Given the description of an element on the screen output the (x, y) to click on. 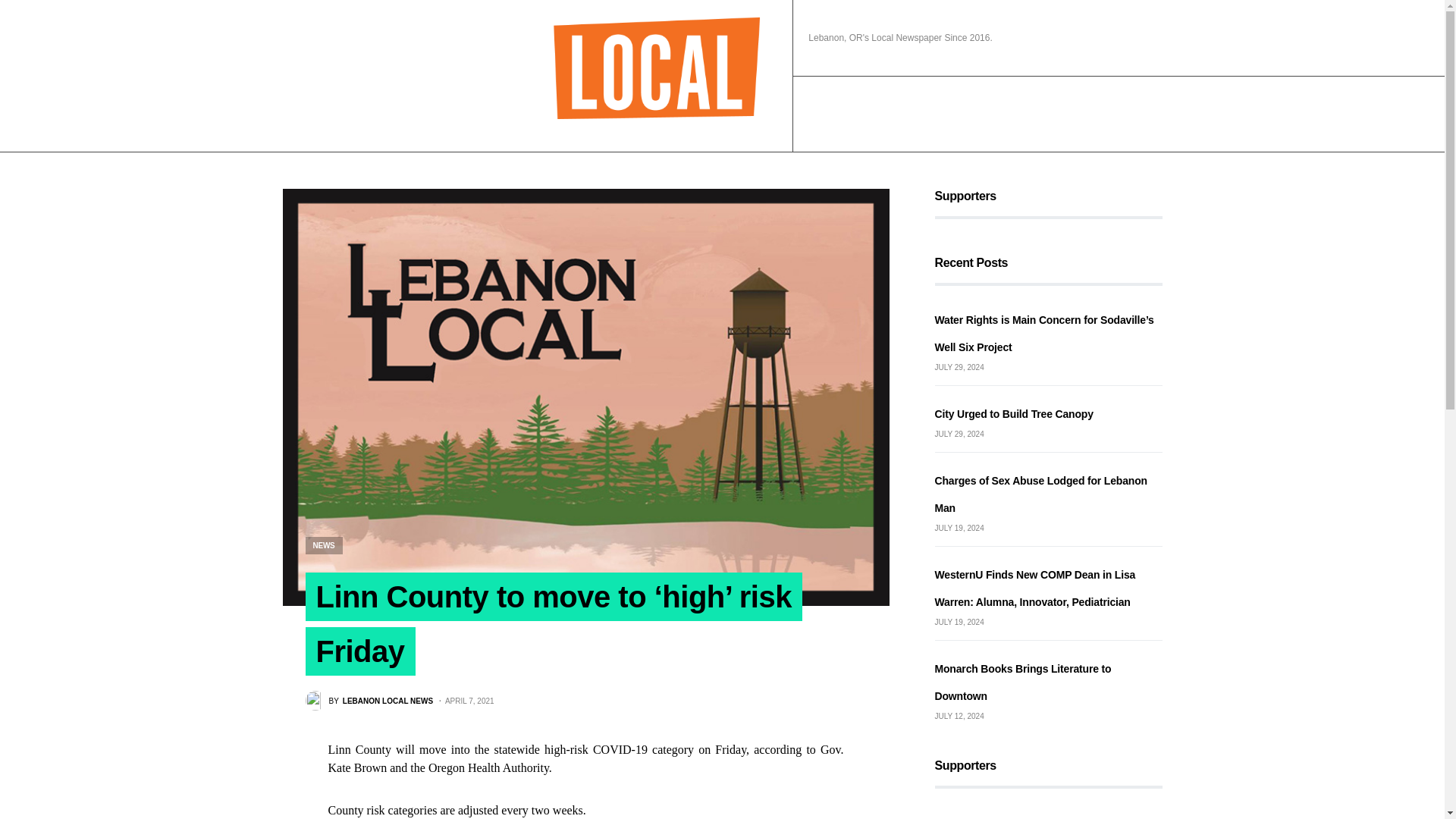
View all posts by Lebanon Local News (368, 700)
